Given the description of an element on the screen output the (x, y) to click on. 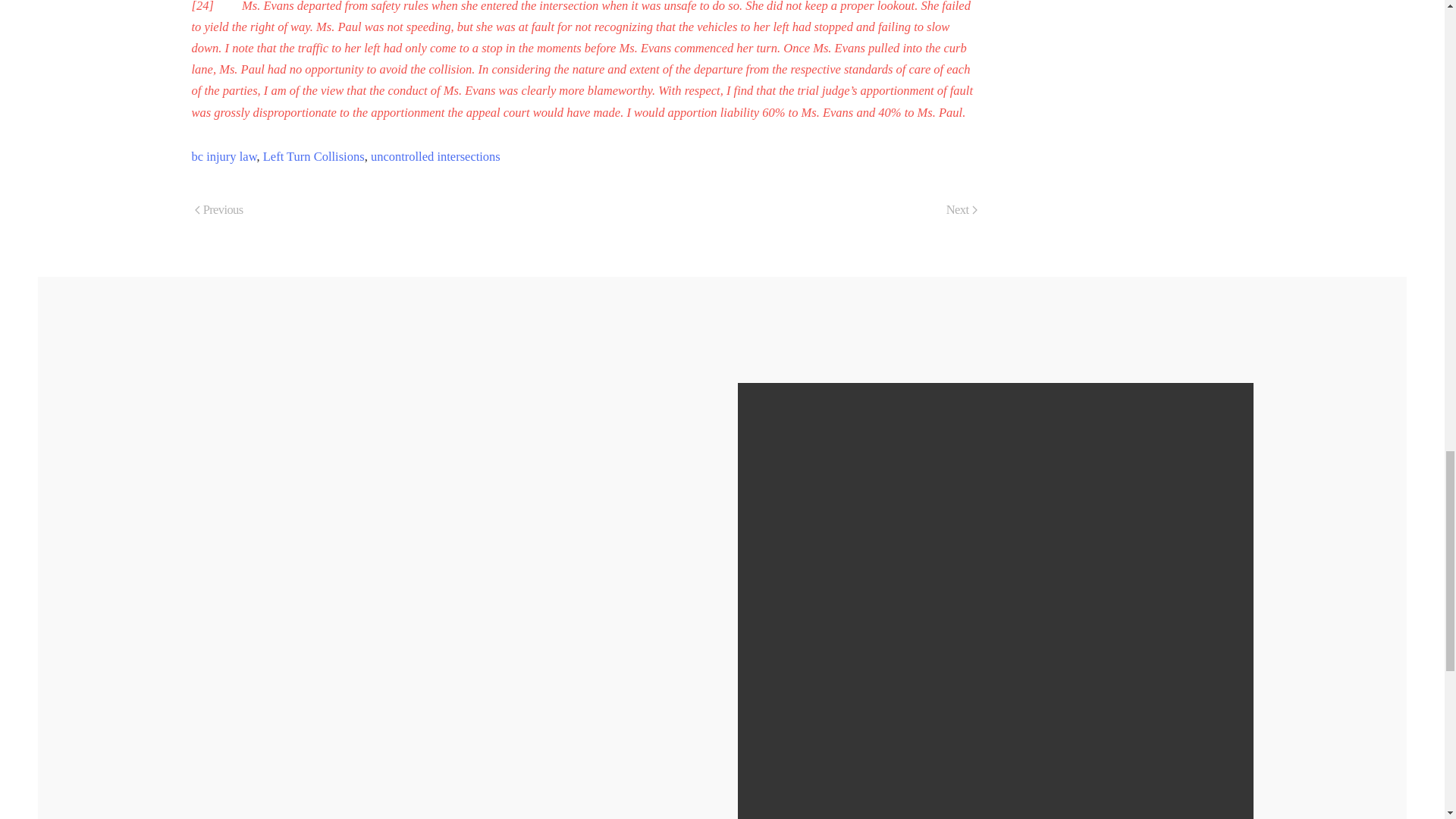
Next (961, 210)
bc injury law (223, 156)
Previous (218, 210)
Left Turn Collisions (314, 156)
uncontrolled intersections (435, 156)
